Given the description of an element on the screen output the (x, y) to click on. 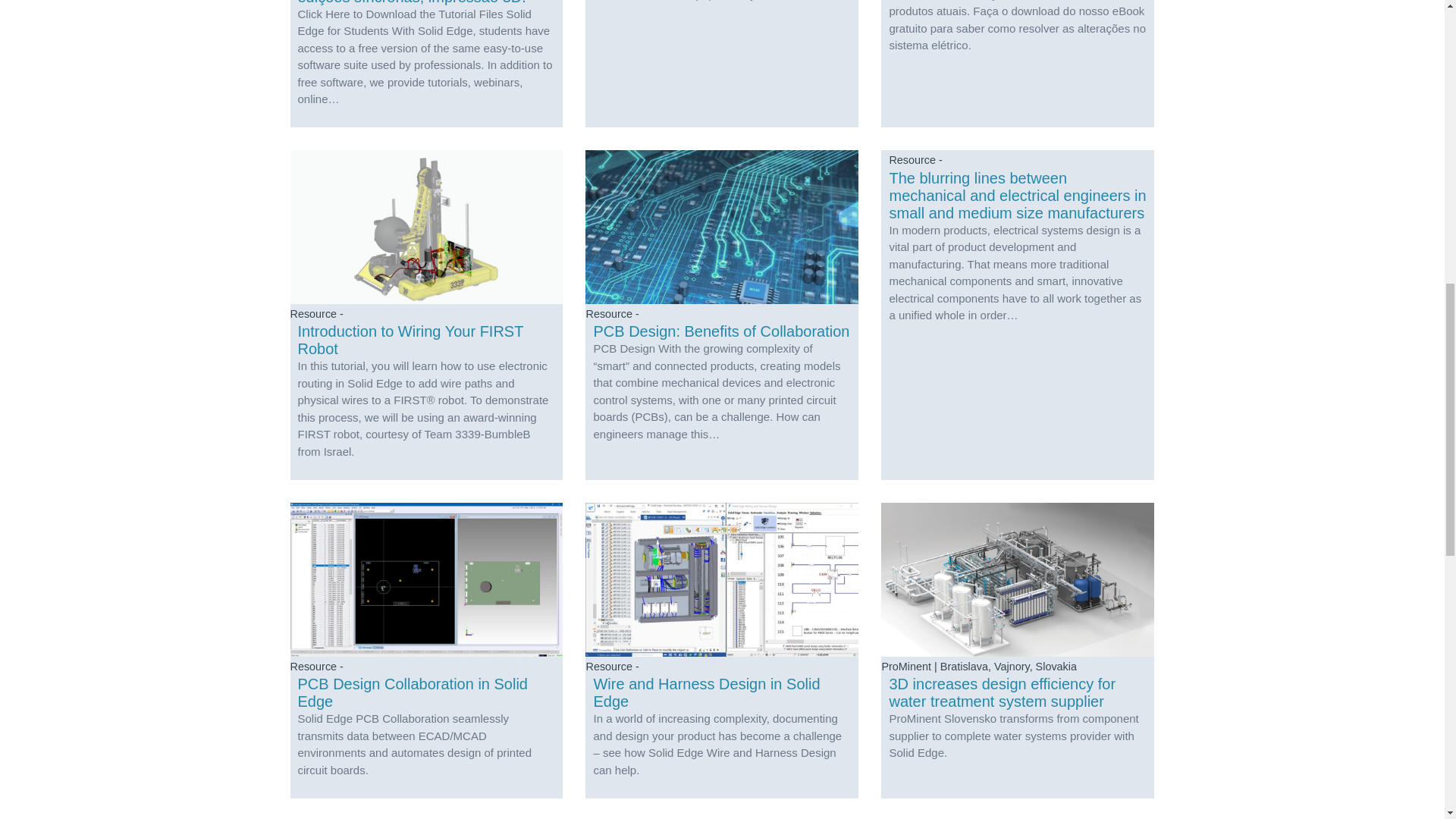
PCB Design: Benefits of Collaboration (721, 314)
Wire and Harness Design in Solid Edge (721, 650)
Electromechanical Design as It Is Meant to Be (721, 63)
PCB Design Collaboration in Solid Edge (427, 650)
Introduction to Wiring Your FIRST Robot (427, 314)
